Given the description of an element on the screen output the (x, y) to click on. 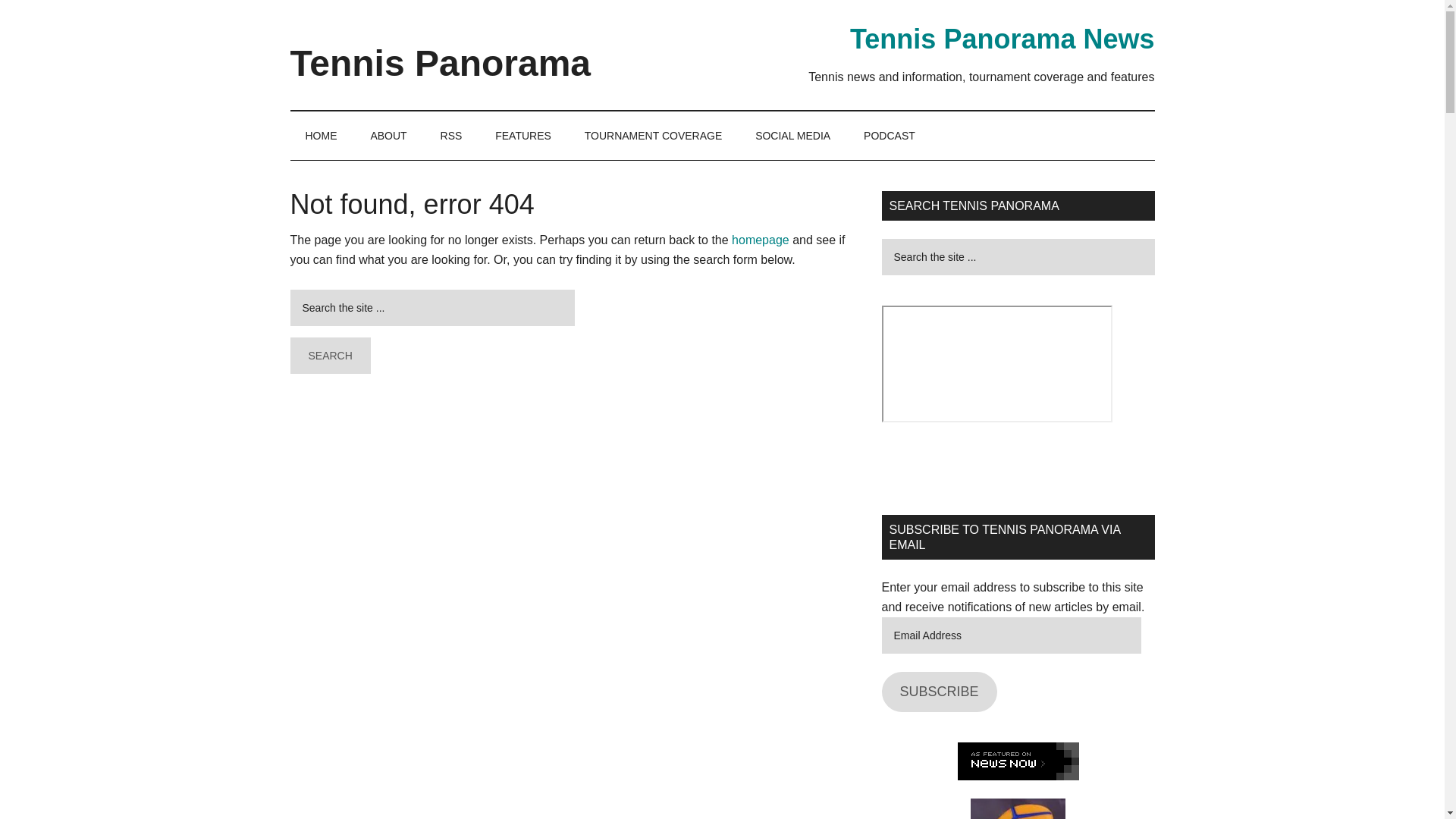
Search (329, 355)
Tennis Panorama News (1002, 38)
PODCAST (889, 135)
Search (329, 355)
SUBSCRIBE (937, 691)
ABOUT (388, 135)
TOURNAMENT COVERAGE (653, 135)
SOCIAL MEDIA (792, 135)
FEATURES (523, 135)
RSS (451, 135)
